Given the description of an element on the screen output the (x, y) to click on. 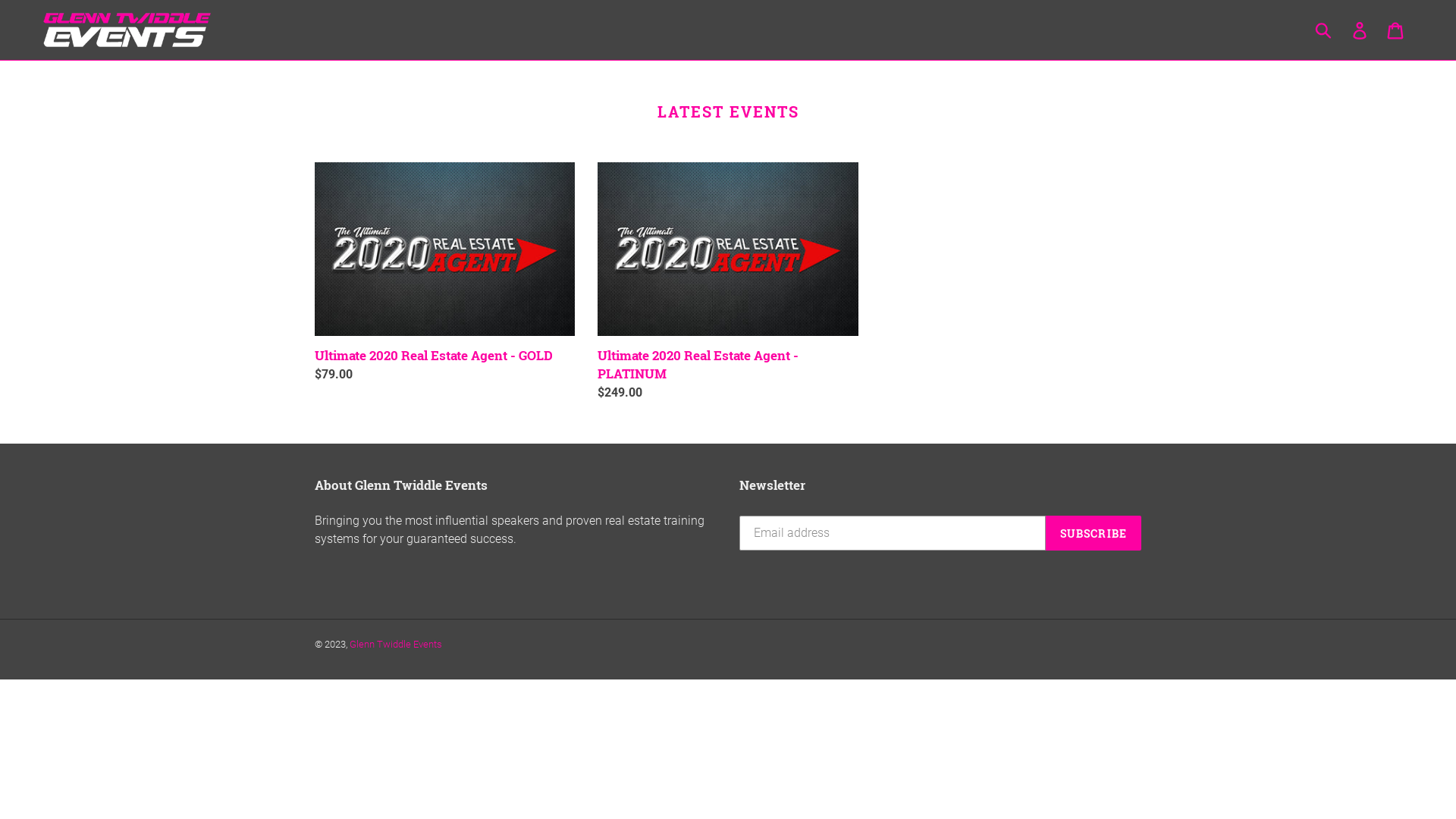
Cart Element type: text (1396, 29)
Ultimate 2020 Real Estate Agent - PLATINUM Element type: text (727, 281)
Ultimate 2020 Real Estate Agent - GOLD Element type: text (444, 272)
Glenn Twiddle Events Element type: text (395, 643)
SUBSCRIBE Element type: text (1093, 532)
Log in Element type: text (1360, 29)
Submit Element type: text (1324, 29)
